Given the description of an element on the screen output the (x, y) to click on. 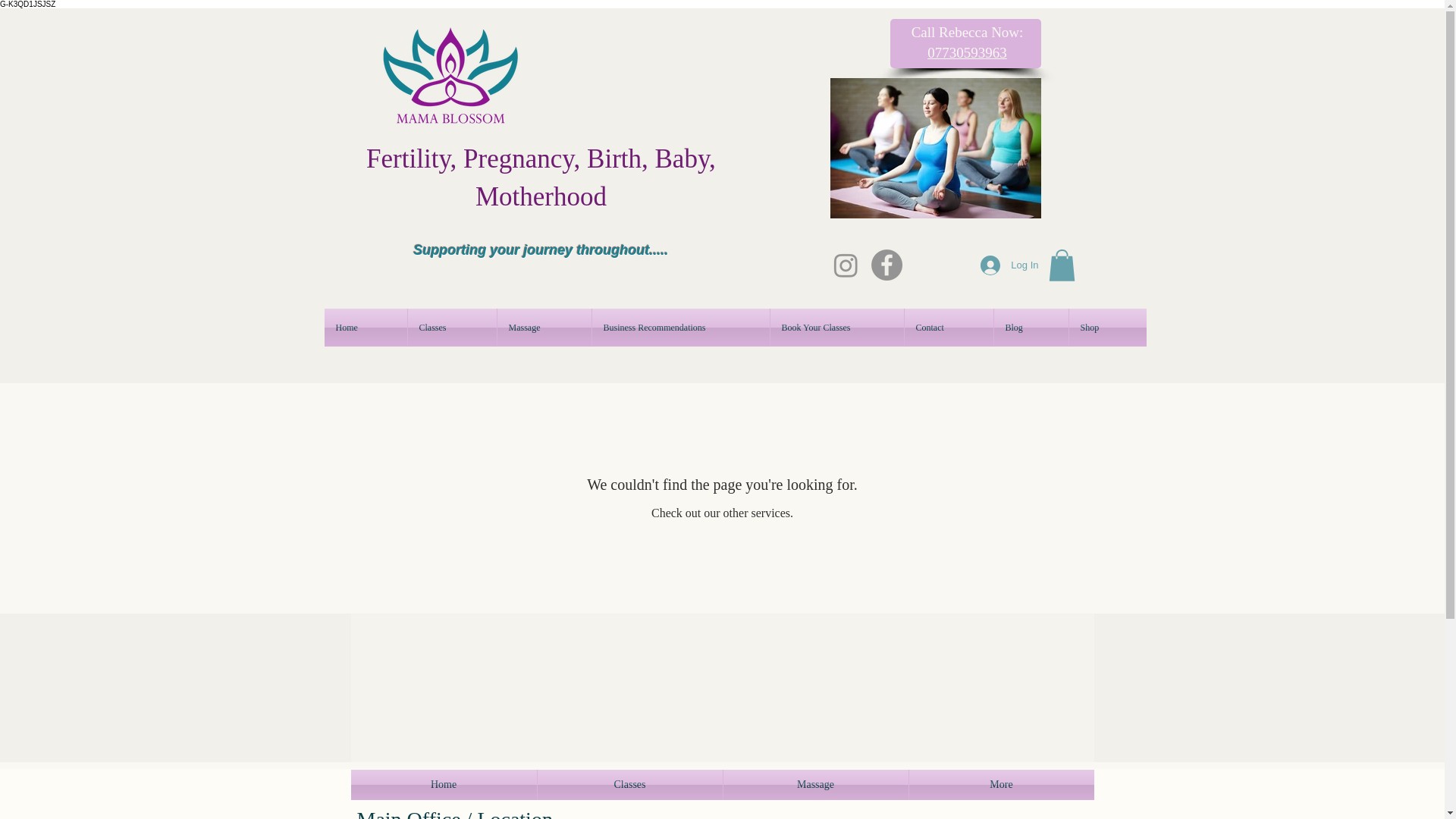
Log In (1008, 265)
Massage (544, 327)
Contact (948, 327)
Business Recommendations (679, 327)
Shop (1107, 327)
Classes (451, 327)
07730593963 (967, 52)
Book Your Classes (837, 327)
Home (365, 327)
Blog (1029, 327)
